Given the description of an element on the screen output the (x, y) to click on. 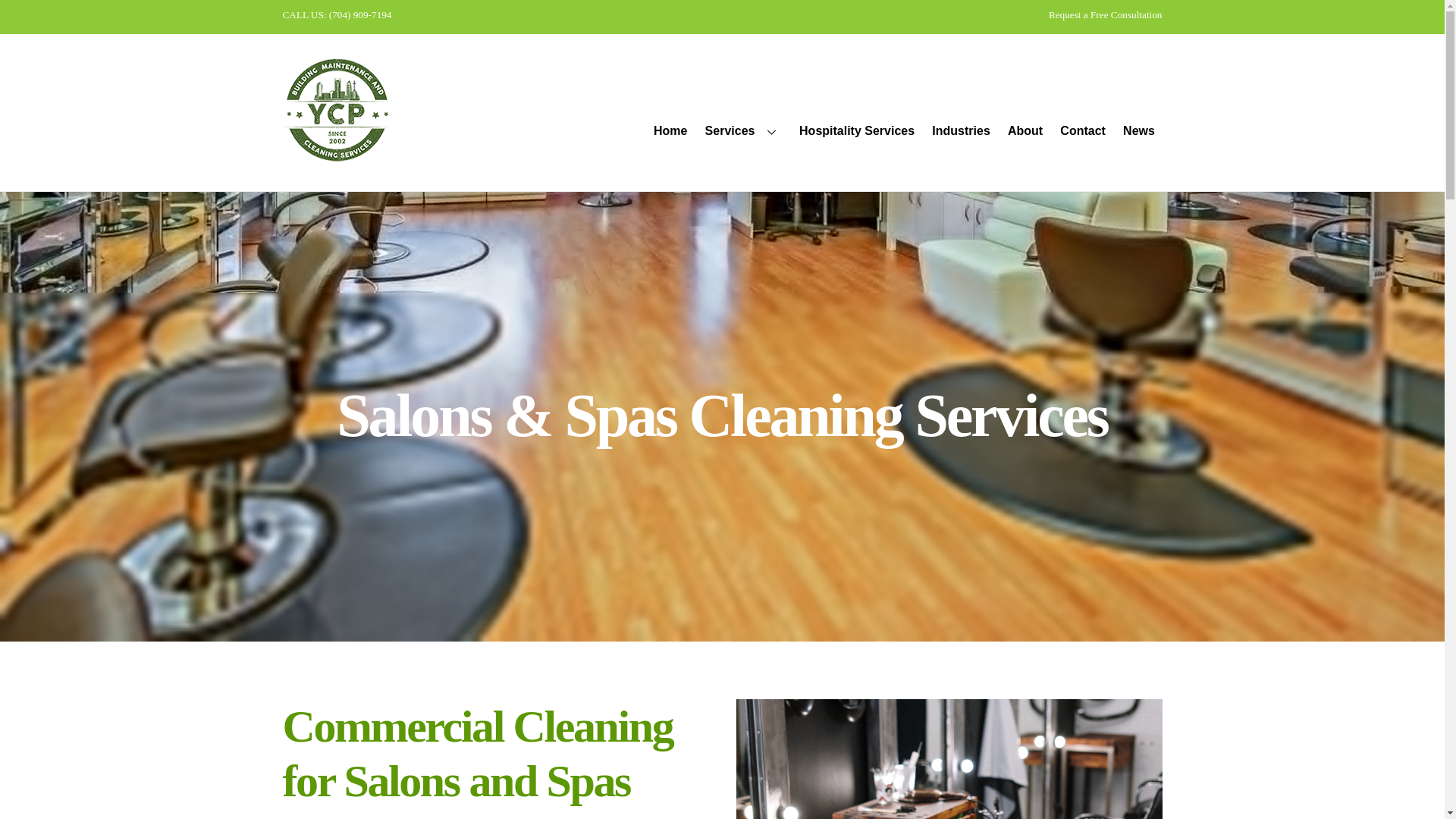
About (1024, 131)
Request a Free Consultation (1104, 14)
Home (670, 131)
Industries (960, 131)
Y.C.P. Building Maintenance and Cleaning Services (335, 152)
Contact (1082, 131)
Services (743, 131)
barber-shop (948, 759)
Hospitality Services (856, 131)
